Given the description of an element on the screen output the (x, y) to click on. 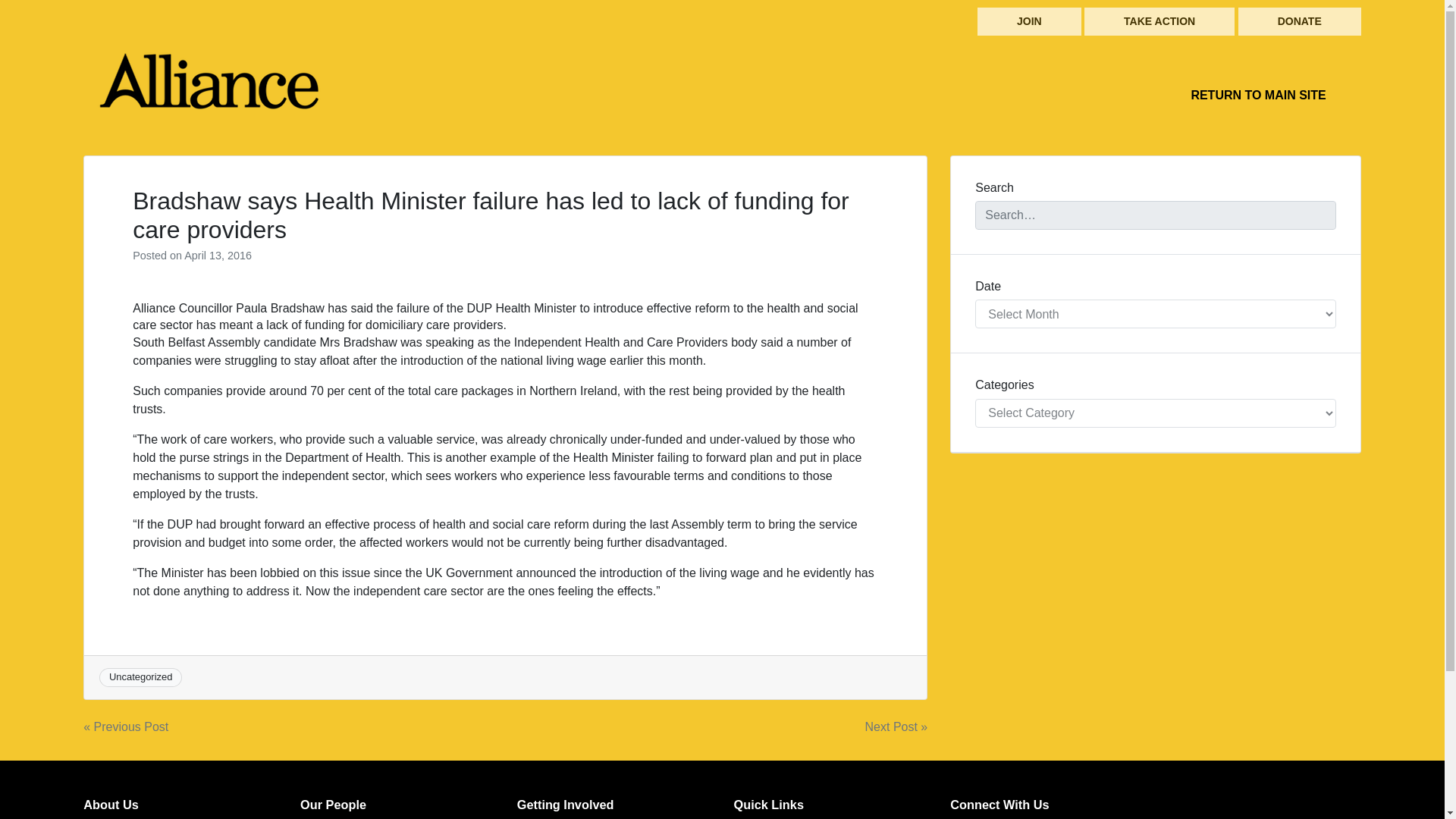
April 13, 2016 (217, 255)
RETURN TO MAIN SITE (1257, 95)
DONATE (1300, 21)
JOIN (1028, 21)
TAKE ACTION (1159, 21)
